Given the description of an element on the screen output the (x, y) to click on. 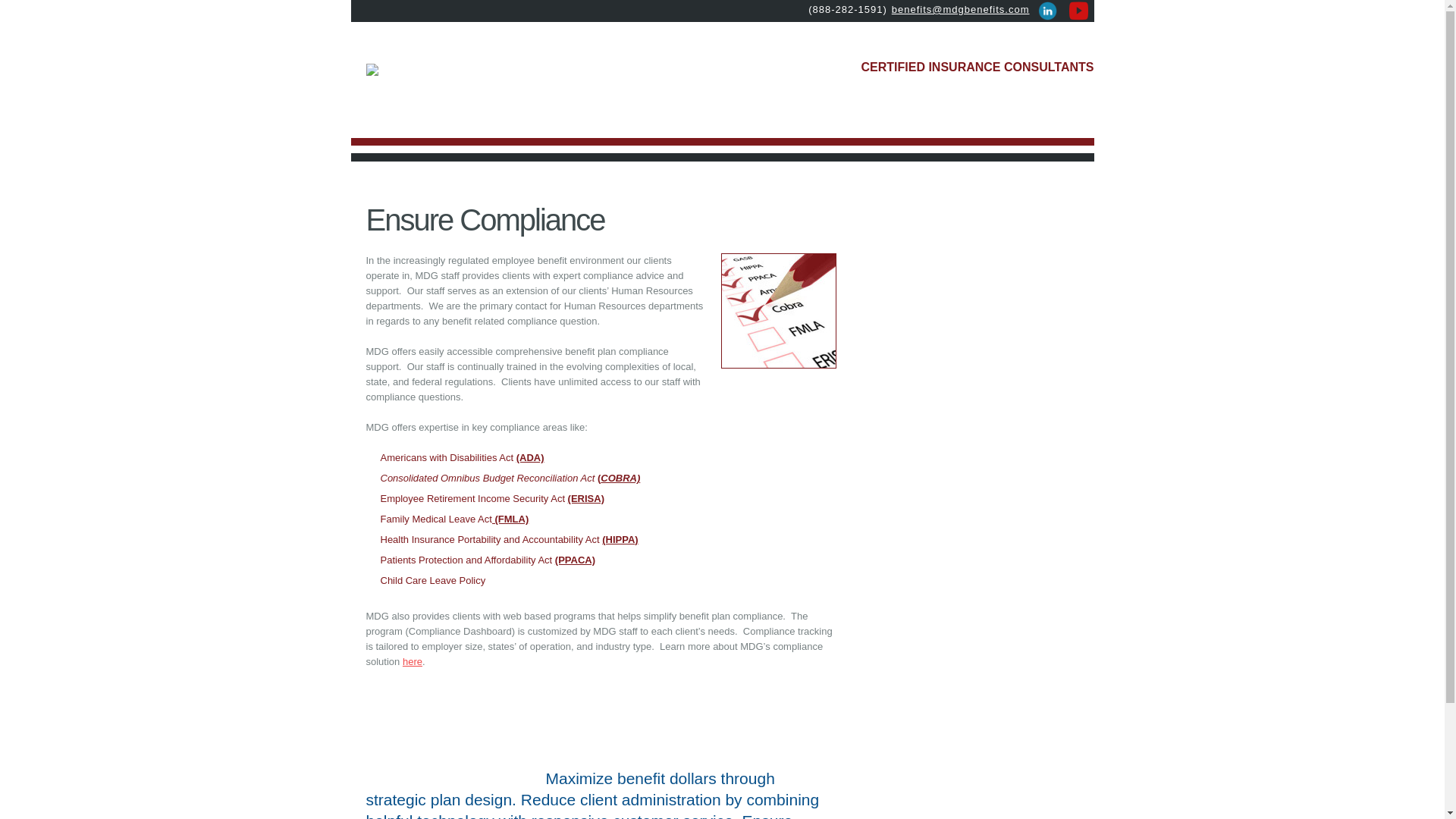
Employee Benefit Solutions (371, 69)
CONTACTS (1042, 124)
RESOURCES (815, 124)
INDUSTRIES SERVED (908, 124)
here (412, 661)
THE FIRM (746, 124)
